Given the description of an element on the screen output the (x, y) to click on. 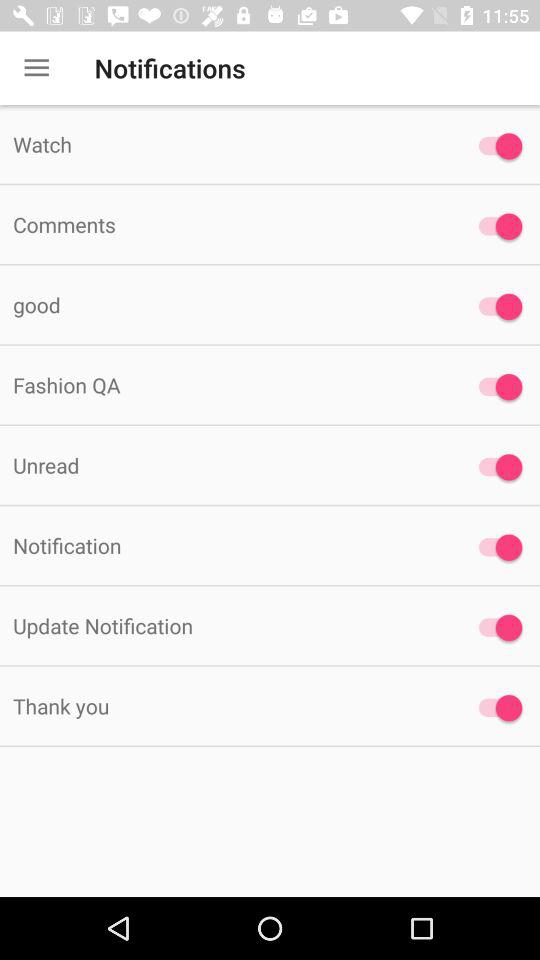
flip until good item (225, 304)
